Given the description of an element on the screen output the (x, y) to click on. 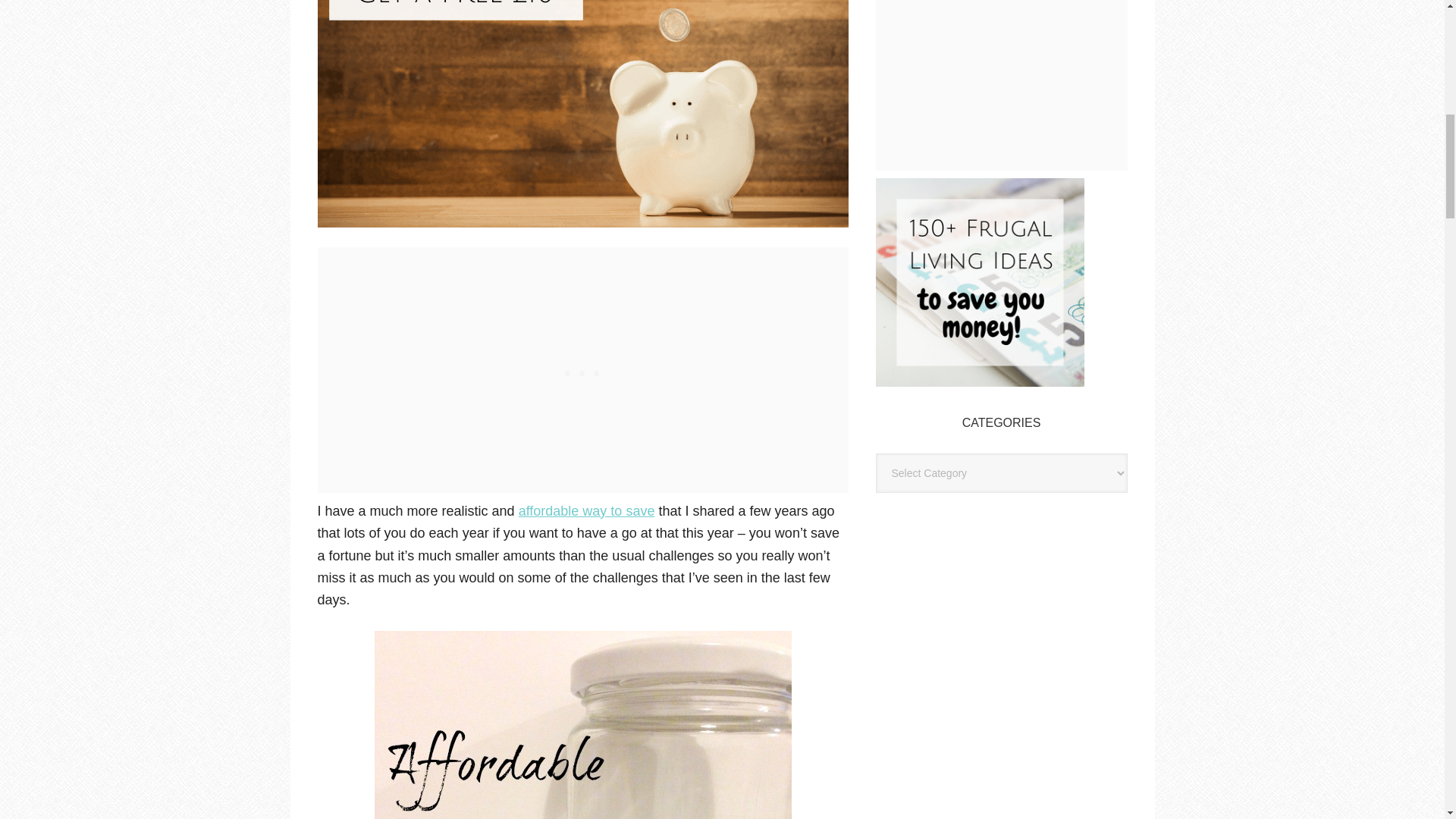
affordable way to save (586, 510)
